Given the description of an element on the screen output the (x, y) to click on. 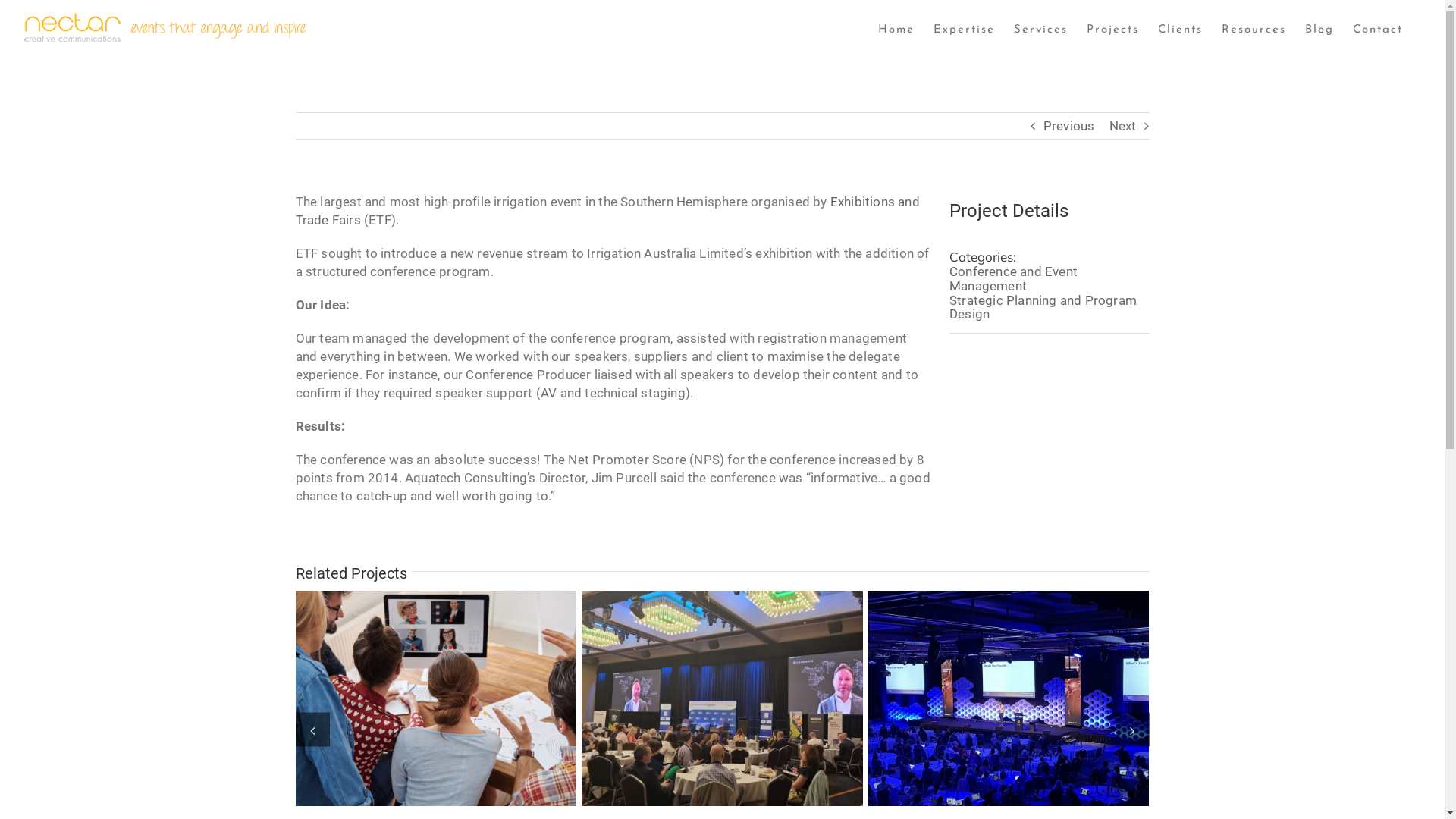
Contact Element type: text (1377, 28)
Strategic Planning and Program Design Element type: text (1042, 307)
Home Element type: text (896, 28)
Previous Element type: text (1069, 125)
Blog Element type: text (1319, 28)
Exhibitions and Trade Fairs Element type: text (607, 210)
Services Element type: text (1040, 28)
Expertise Element type: text (963, 28)
Clients Element type: text (1179, 28)
Conference and Event Management Element type: text (1013, 278)
Next Element type: text (1122, 125)
Resources Element type: text (1253, 28)
Projects Element type: text (1112, 28)
